Given the description of an element on the screen output the (x, y) to click on. 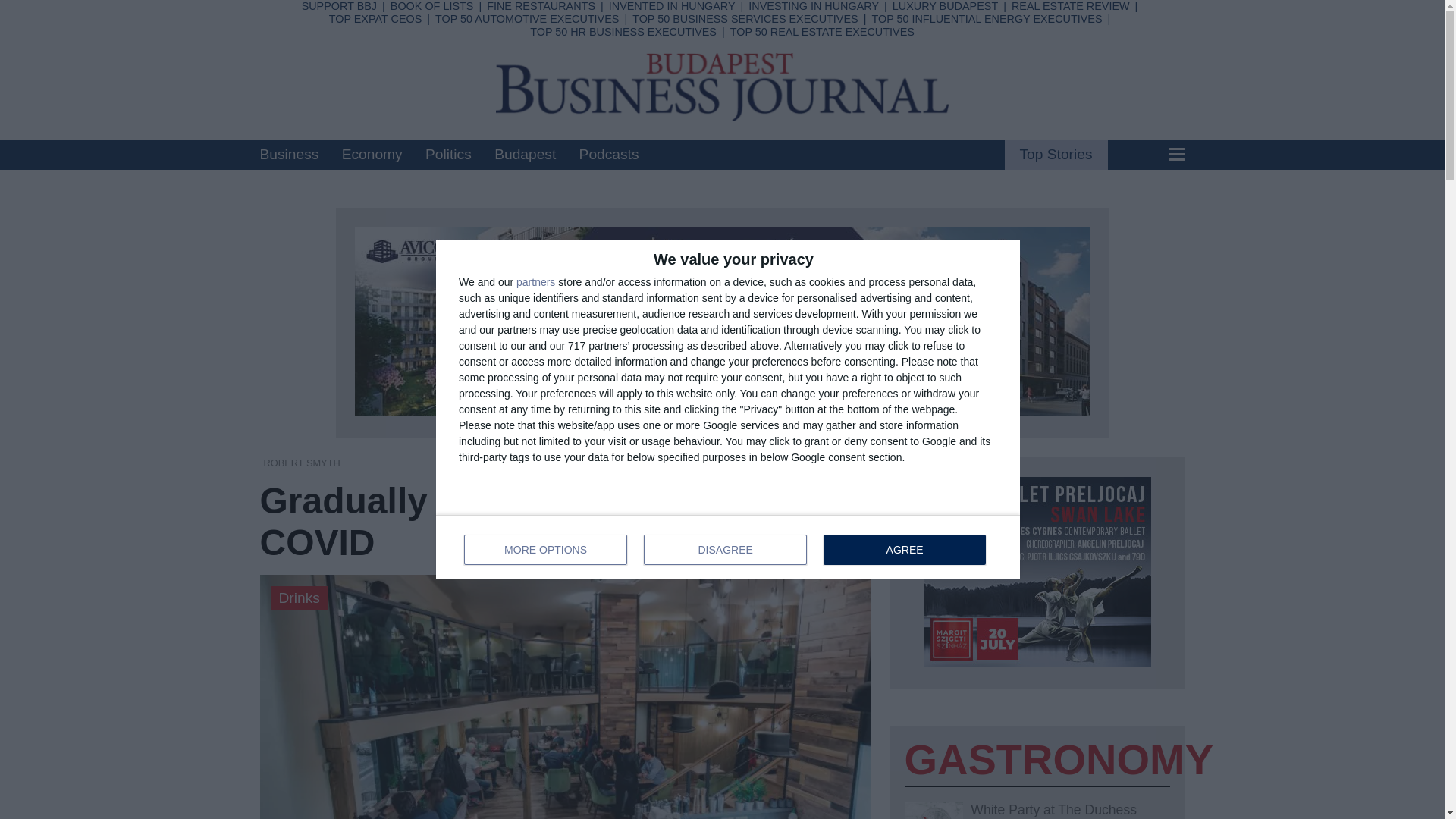
SUPPORT BBJ (339, 6)
INVENTED IN HUNGARY (671, 6)
Real Estate (543, 53)
Agriculture (657, 112)
Politics (448, 154)
AGREE (904, 549)
Tech (517, 92)
FINE RESTAURANTS (727, 546)
INVESTING IN HUNGARY (540, 6)
Statistics (813, 6)
partners (651, 33)
Industry (535, 281)
TOP 50 BUSINESS SERVICES EXECUTIVES (529, 72)
REAL ESTATE REVIEW (745, 19)
